Given the description of an element on the screen output the (x, y) to click on. 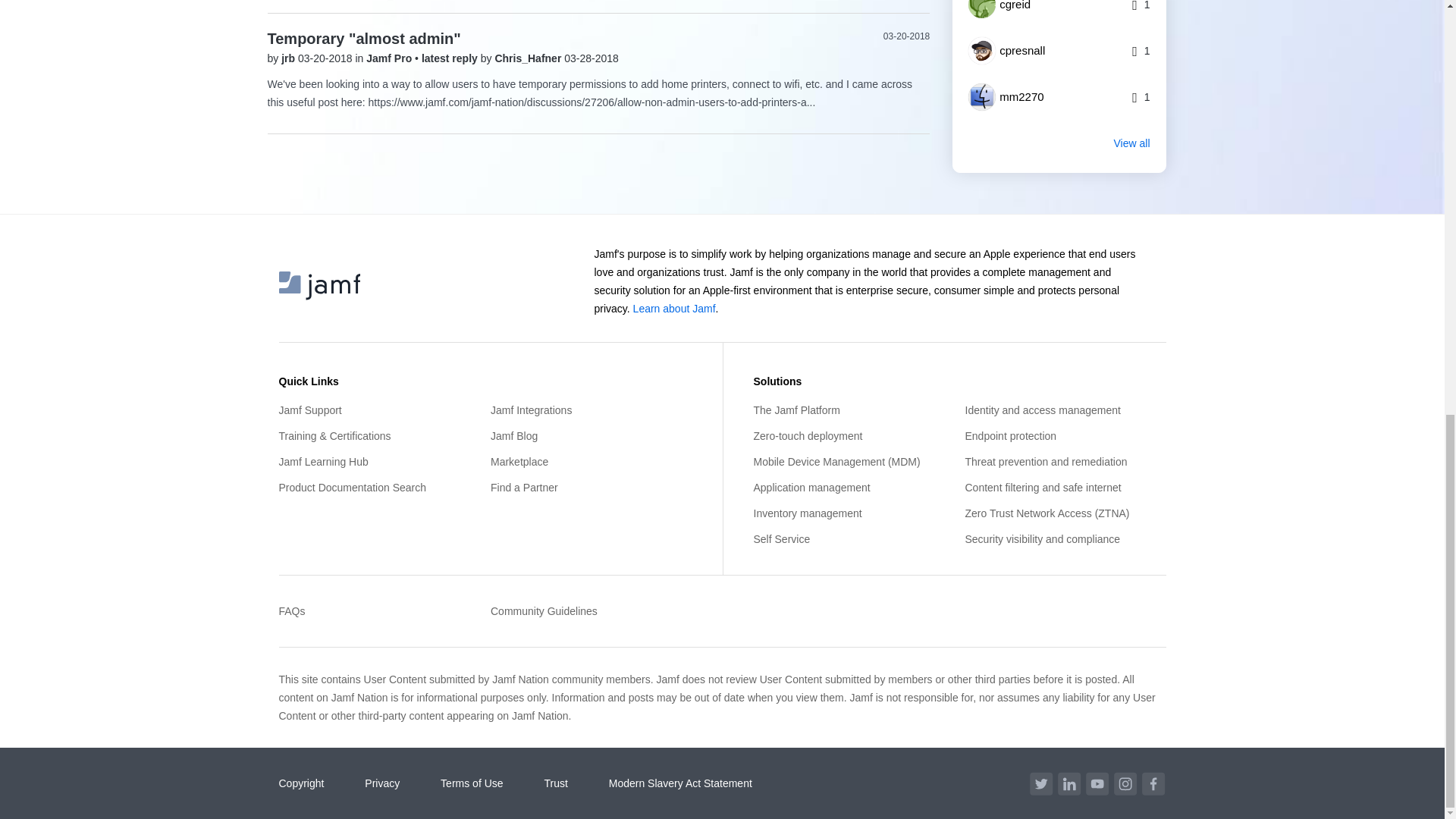
jrb (289, 58)
Temporary "almost admin" (363, 38)
Jamf Pro (390, 58)
latest reply (451, 58)
